Given the description of an element on the screen output the (x, y) to click on. 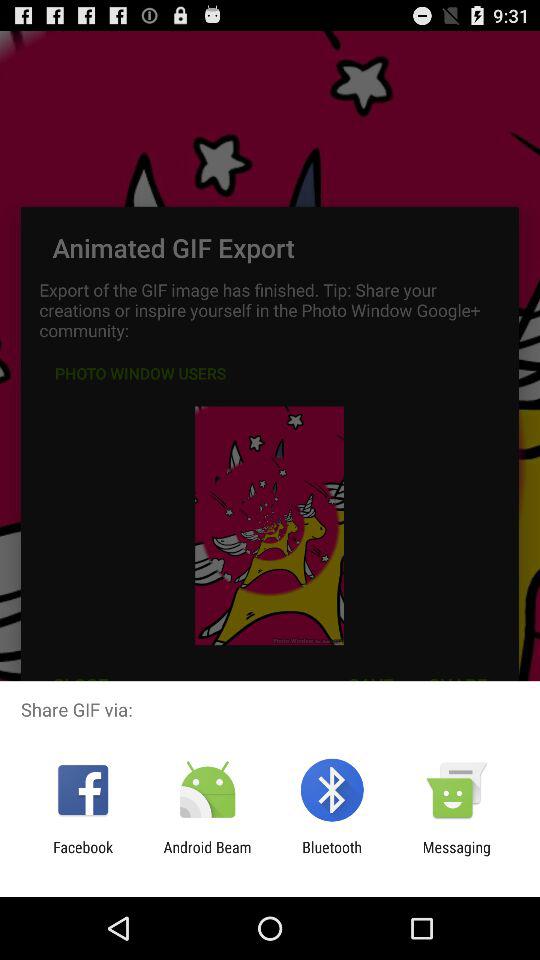
open bluetooth item (331, 856)
